Given the description of an element on the screen output the (x, y) to click on. 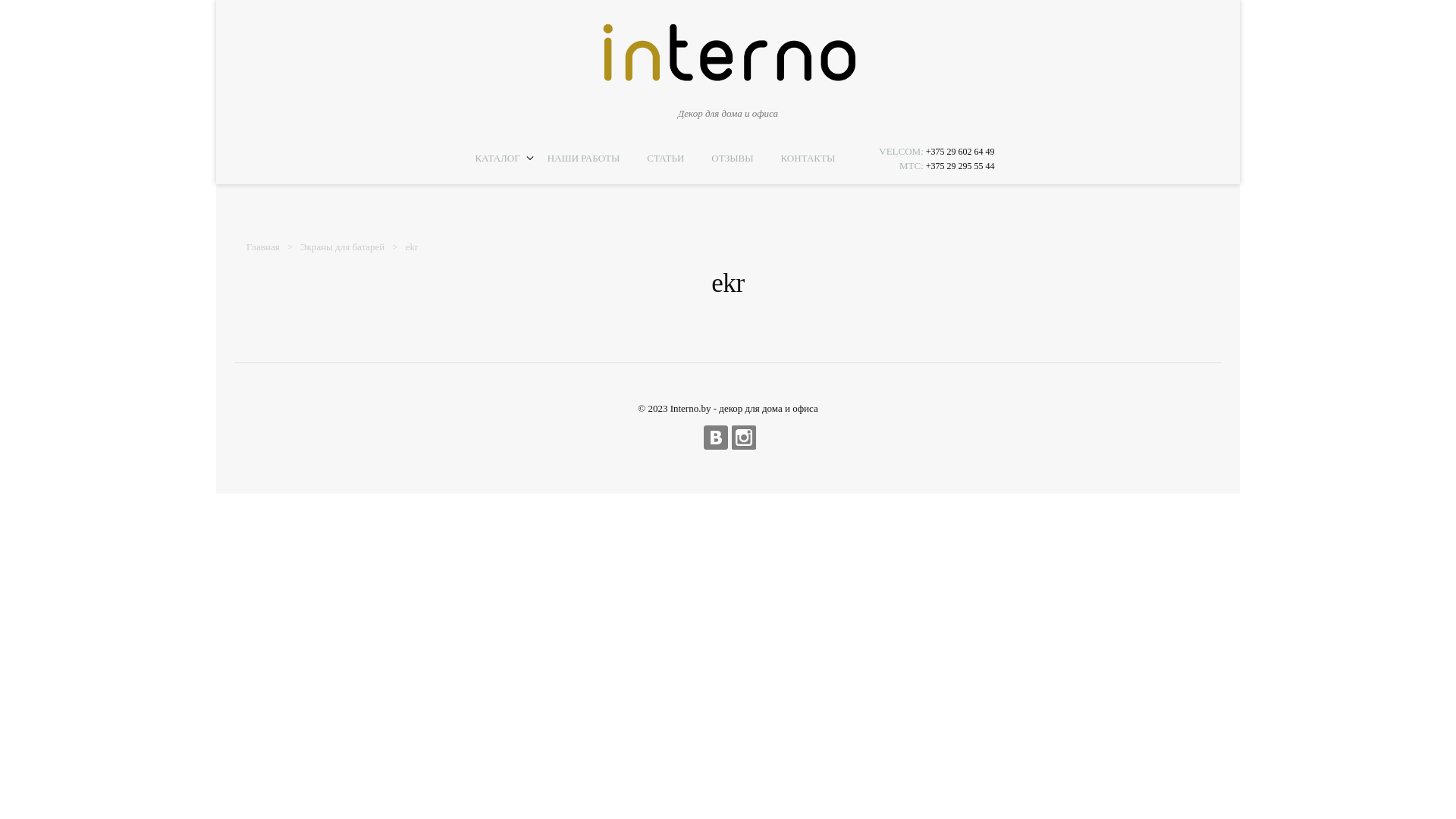
VELCOM: +375 29 602 64 49 Element type: text (936, 150)
